Given the description of an element on the screen output the (x, y) to click on. 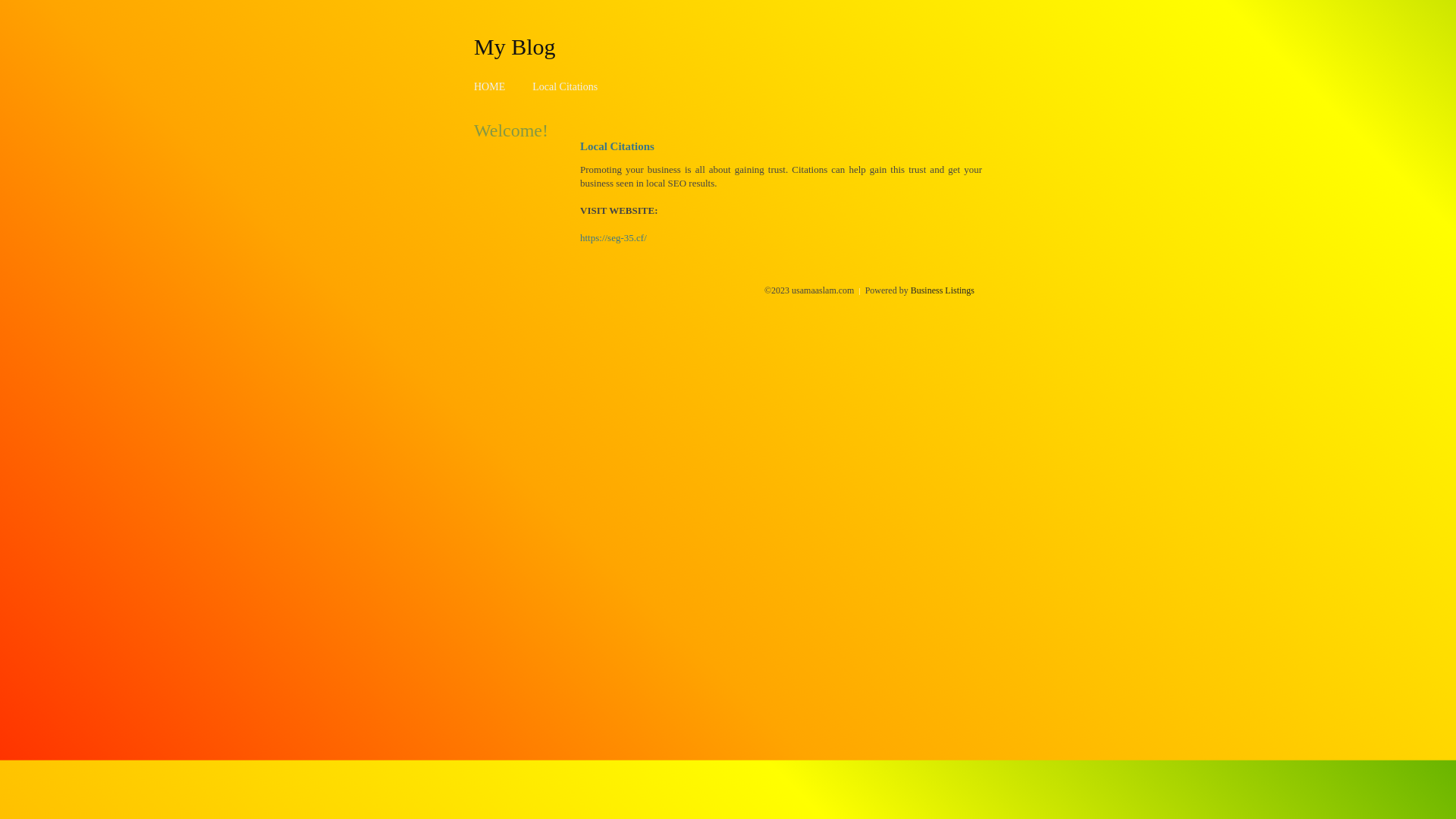
Business Listings Element type: text (942, 290)
https://seg-35.cf/ Element type: text (613, 237)
Local Citations Element type: text (564, 86)
My Blog Element type: text (514, 46)
HOME Element type: text (489, 86)
